Given the description of an element on the screen output the (x, y) to click on. 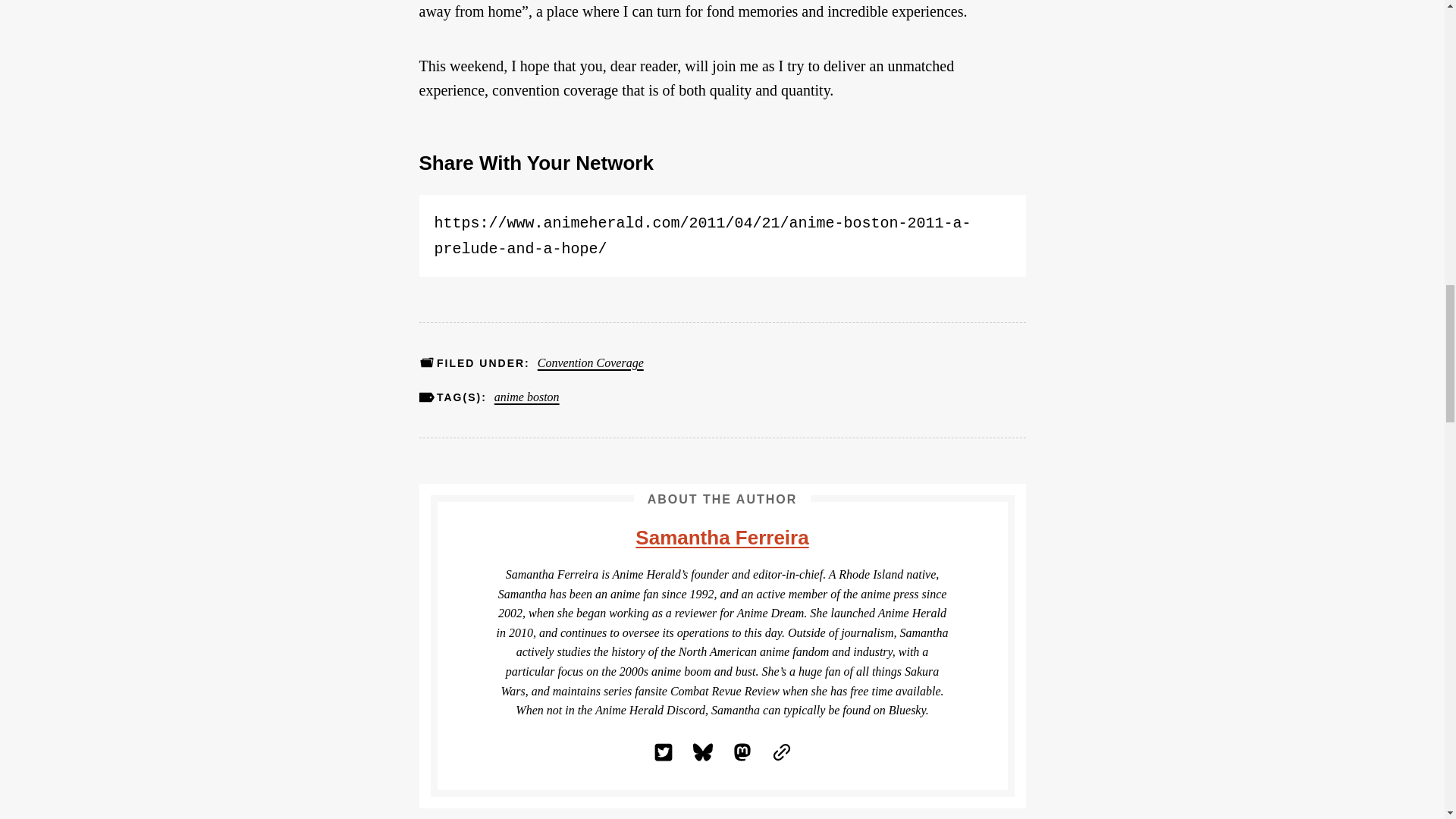
Twitter (662, 752)
Personal Website (780, 752)
Mastodon (741, 752)
Bluesky (702, 752)
Samantha Ferreira (721, 537)
Convention Coverage (590, 362)
anime boston (527, 396)
